Given the description of an element on the screen output the (x, y) to click on. 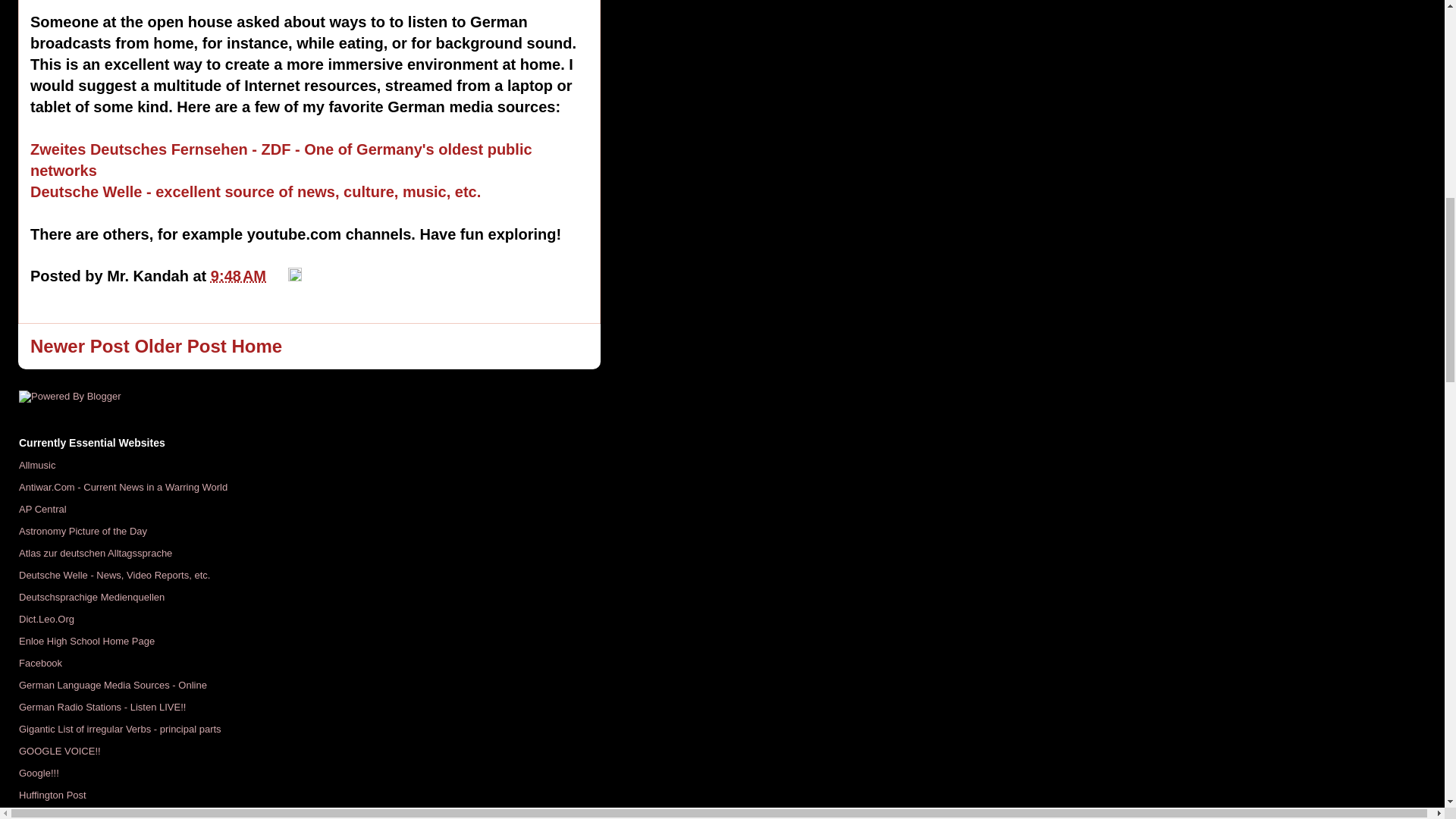
Deutsche Welle - News, Video Reports, etc. (113, 574)
German Language Media Sources - Online (112, 685)
Google!!! (38, 772)
Antiwar.Com - Current News in a Warring World (122, 487)
Allmusic (36, 464)
Newer Post (79, 345)
Astronomy Picture of the Day (82, 531)
GOOGLE VOICE!! (59, 750)
Home (256, 345)
